Given the description of an element on the screen output the (x, y) to click on. 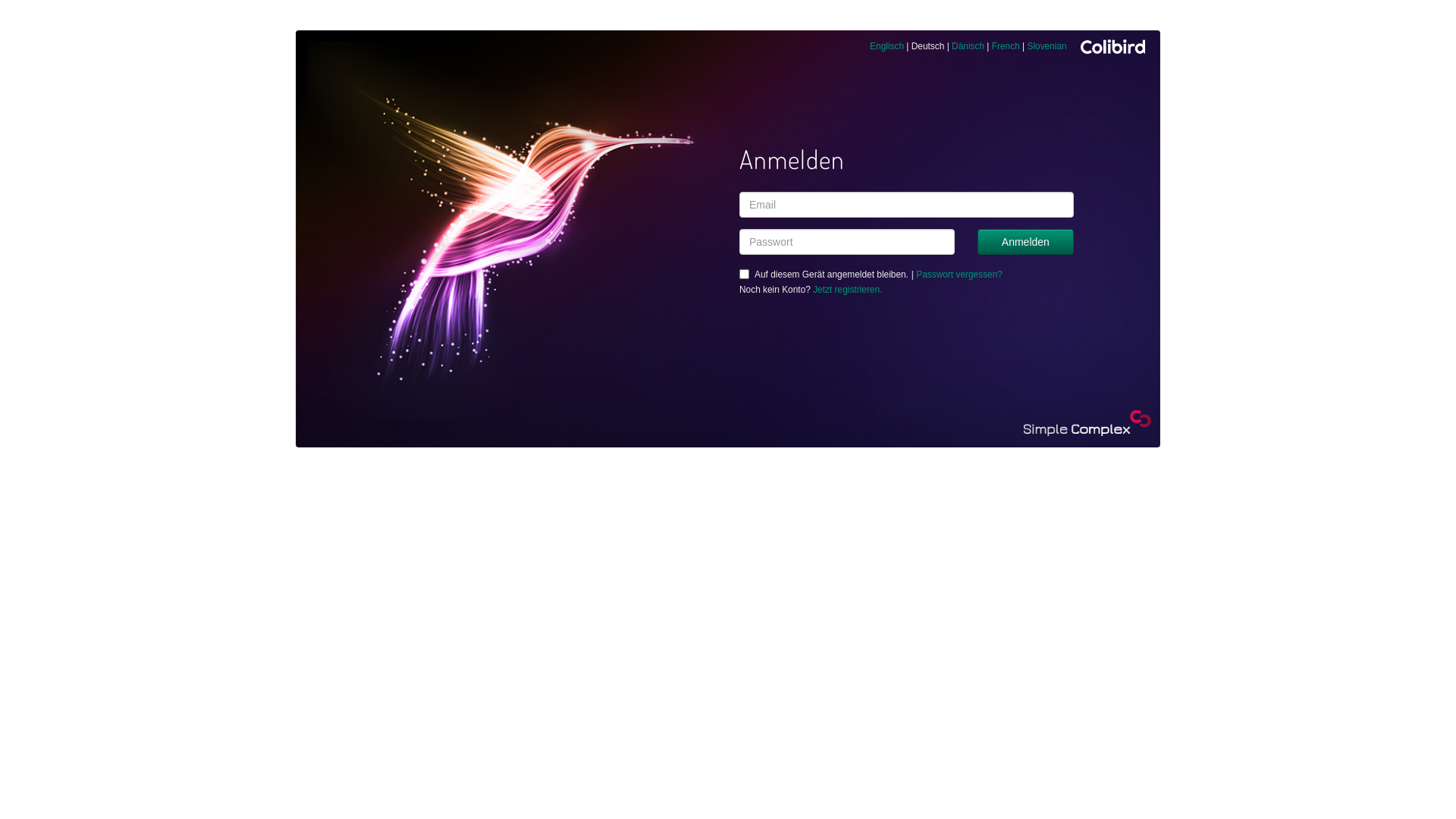
French Element type: text (1005, 45)
Anmelden Element type: text (1025, 241)
Jetzt registrieren. Element type: text (846, 289)
Passwort vergessen? Element type: text (959, 274)
Englisch Element type: text (886, 45)
Slovenian Element type: text (1046, 45)
